Given the description of an element on the screen output the (x, y) to click on. 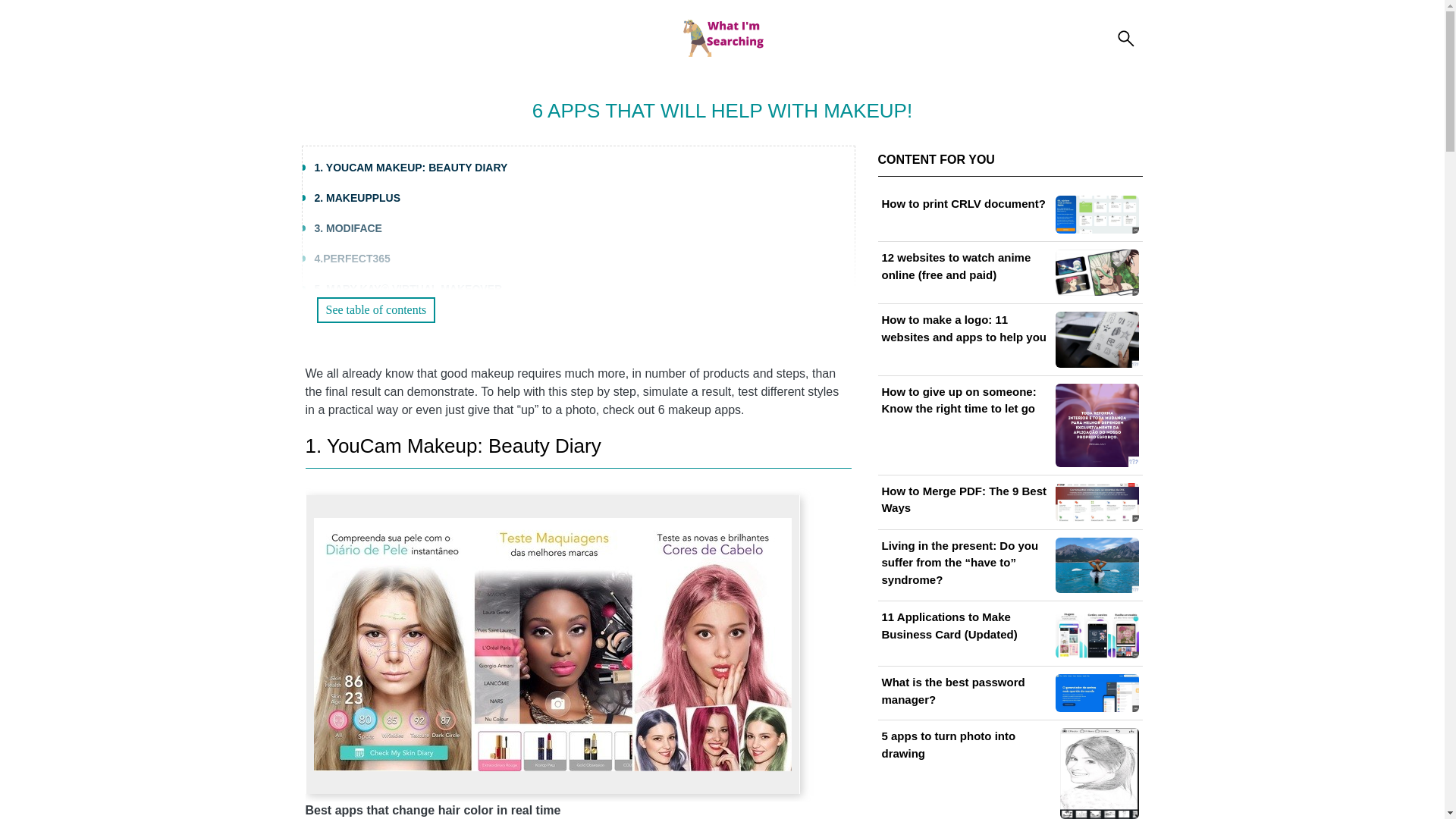
5 apps to turn photo into drawing (1009, 773)
4.PERFECT365 (352, 258)
How to print CRLV document? (1009, 214)
How to give up on someone: Know the right time to let go (1009, 425)
How to Merge PDF: The 9 Best Ways (1009, 502)
What is the best password manager? (1009, 692)
How to give up on someone: Know the right time to let go (1009, 425)
2. MAKEUPPLUS (357, 197)
3. MODIFACE (347, 227)
1. YouCam Makeup: Beauty Diary (451, 445)
How to print CRLV document? (1009, 214)
How to Merge PDF: The 9 Best Ways (1009, 502)
See table of contents (376, 309)
5 apps to turn photo into drawing (1009, 773)
How to make a logo: 11 websites and apps to help you (1009, 339)
